Given the description of an element on the screen output the (x, y) to click on. 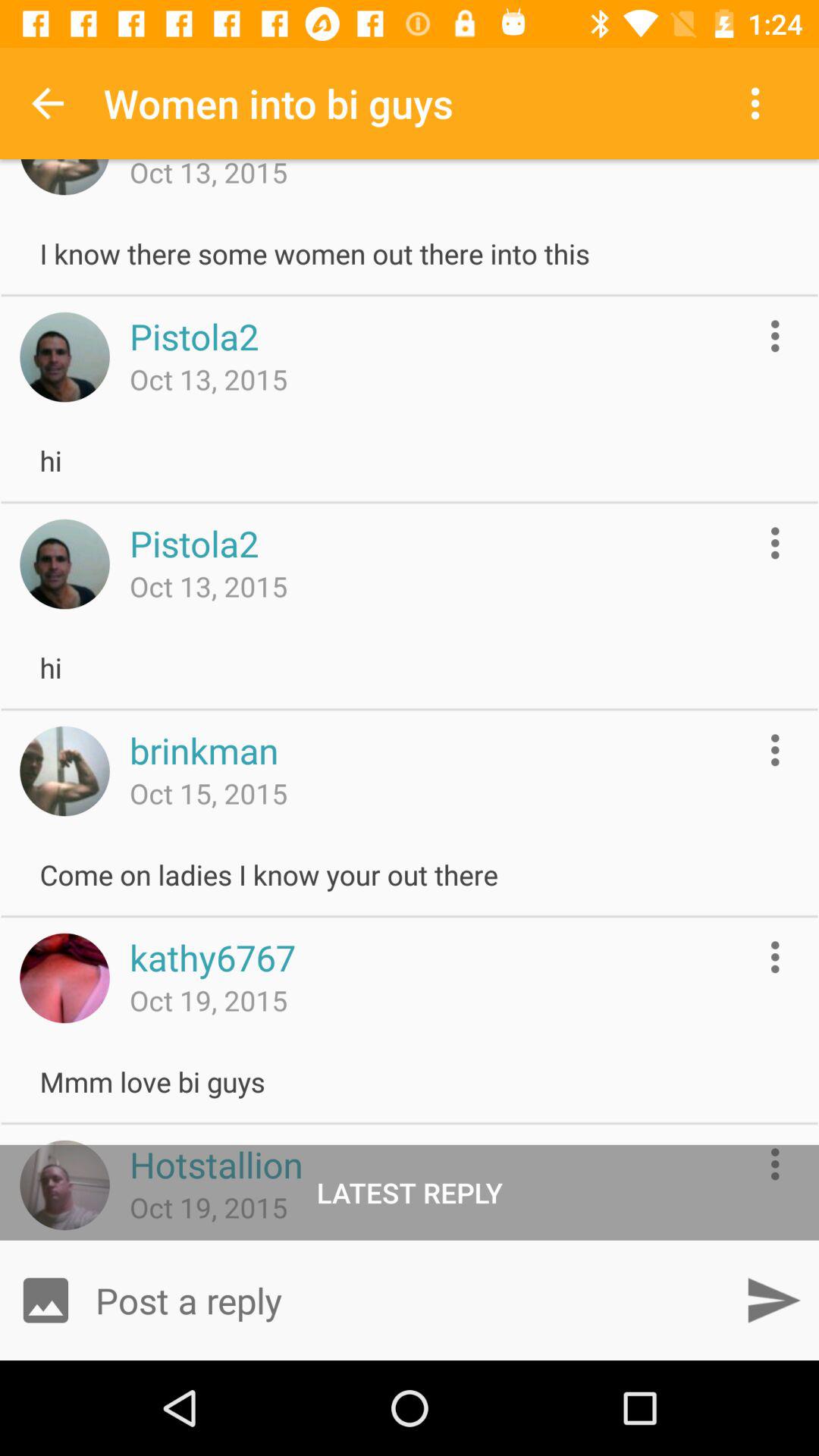
enter a reply (409, 1300)
